Given the description of an element on the screen output the (x, y) to click on. 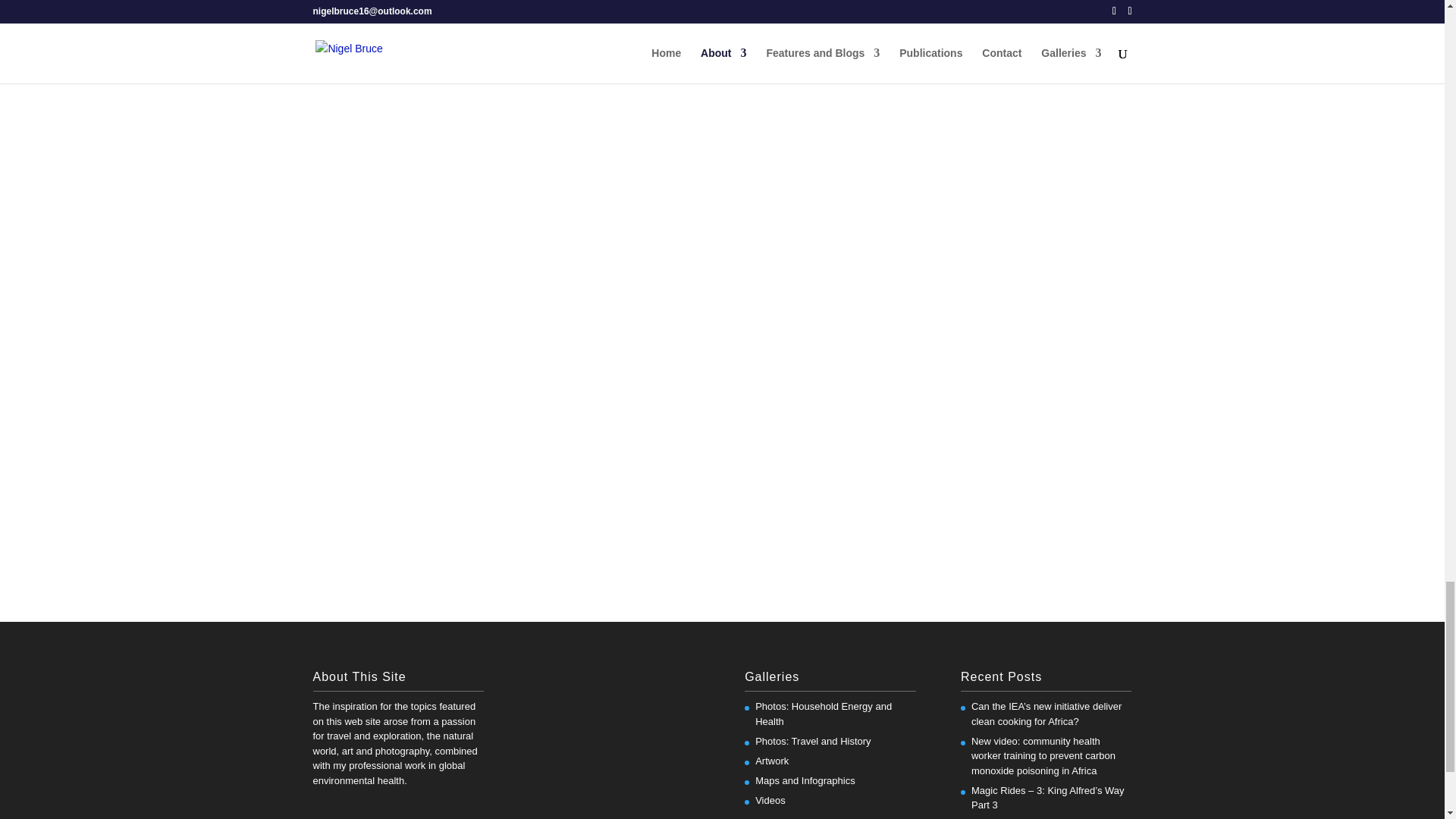
Photos: Travel and History (812, 740)
Videos (770, 799)
Maps and Infographics (805, 780)
Artwork (772, 760)
Photos: Household Energy and Health (823, 714)
